Given the description of an element on the screen output the (x, y) to click on. 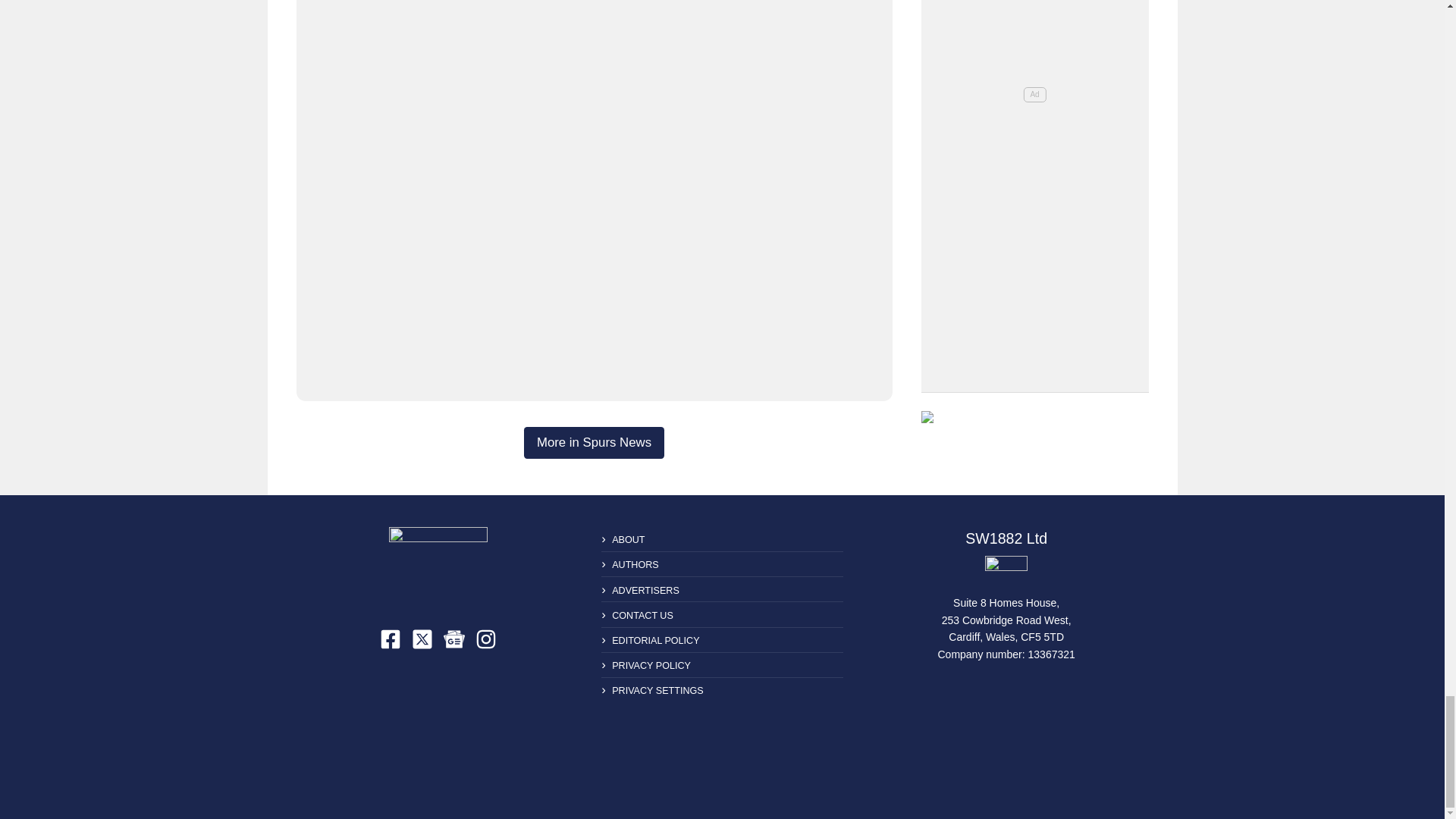
The Spurs Web - Tottenham Hotspur Football News on Facebook (390, 639)
The Spurs Web - Tottenham Hotspur Football News (438, 566)
The Spurs Web - Tottenham Hotspur Football News on X (422, 639)
The Spurs Web - Tottenham Hotspur Football News on Instagram (486, 639)
Spurs Web (1005, 572)
More in Spurs News (593, 442)
